Given the description of an element on the screen output the (x, y) to click on. 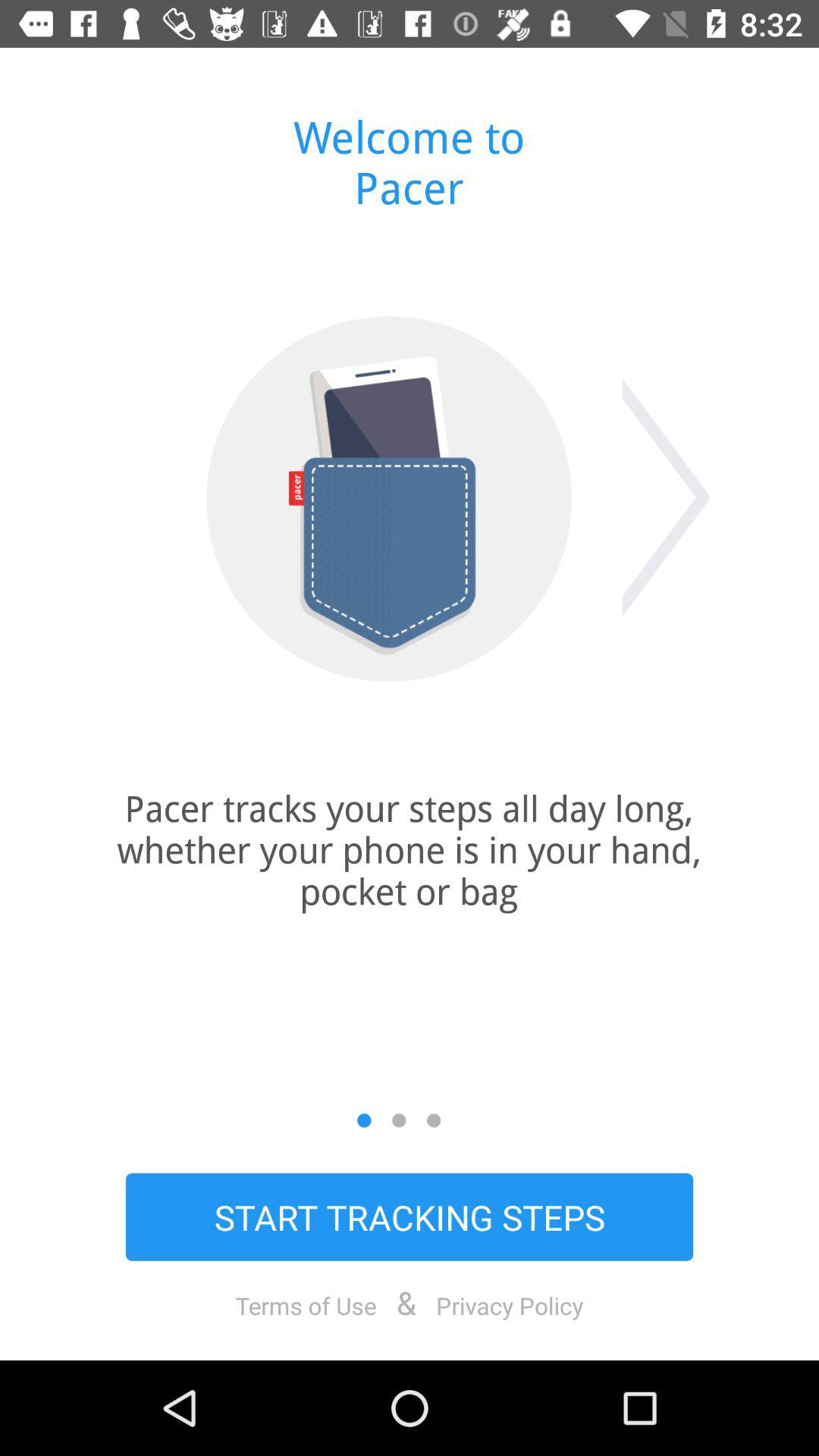
swipe to start tracking steps item (409, 1217)
